Given the description of an element on the screen output the (x, y) to click on. 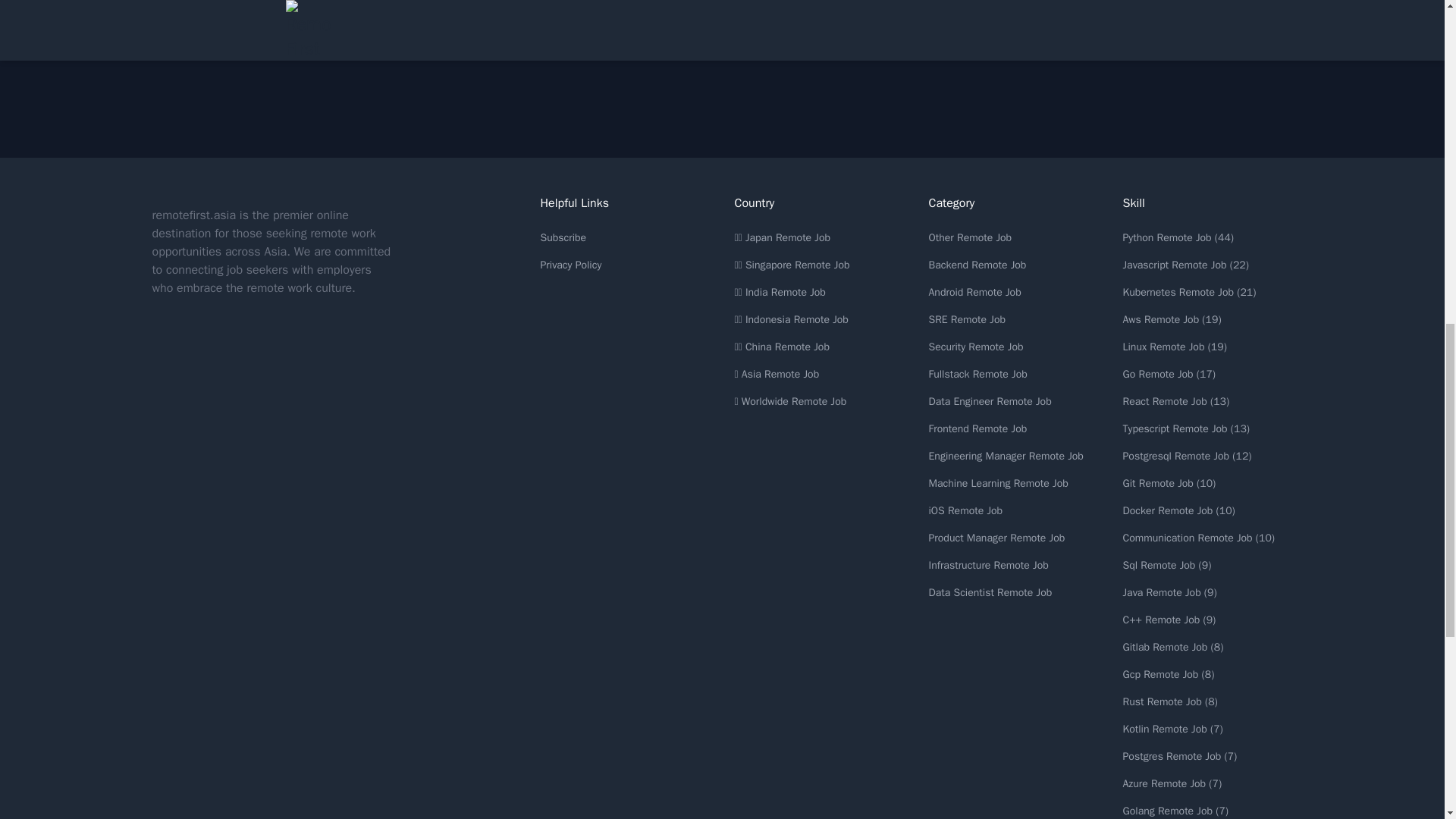
Frontend Remote Job (977, 428)
Engineering Manager Remote Job (1005, 455)
Security Remote Job (975, 346)
Other Remote Job (969, 237)
Infrastructure Remote Job (988, 564)
Android Remote Job (974, 291)
Backend Remote Job (977, 264)
Privacy Policy (570, 264)
Data Scientist Remote Job (989, 592)
SRE Remote Job (967, 318)
Machine Learning Remote Job (997, 482)
Data Engineer Remote Job (989, 400)
iOS Remote Job (965, 510)
Subscribe (563, 237)
Product Manager Remote Job (996, 537)
